Given the description of an element on the screen output the (x, y) to click on. 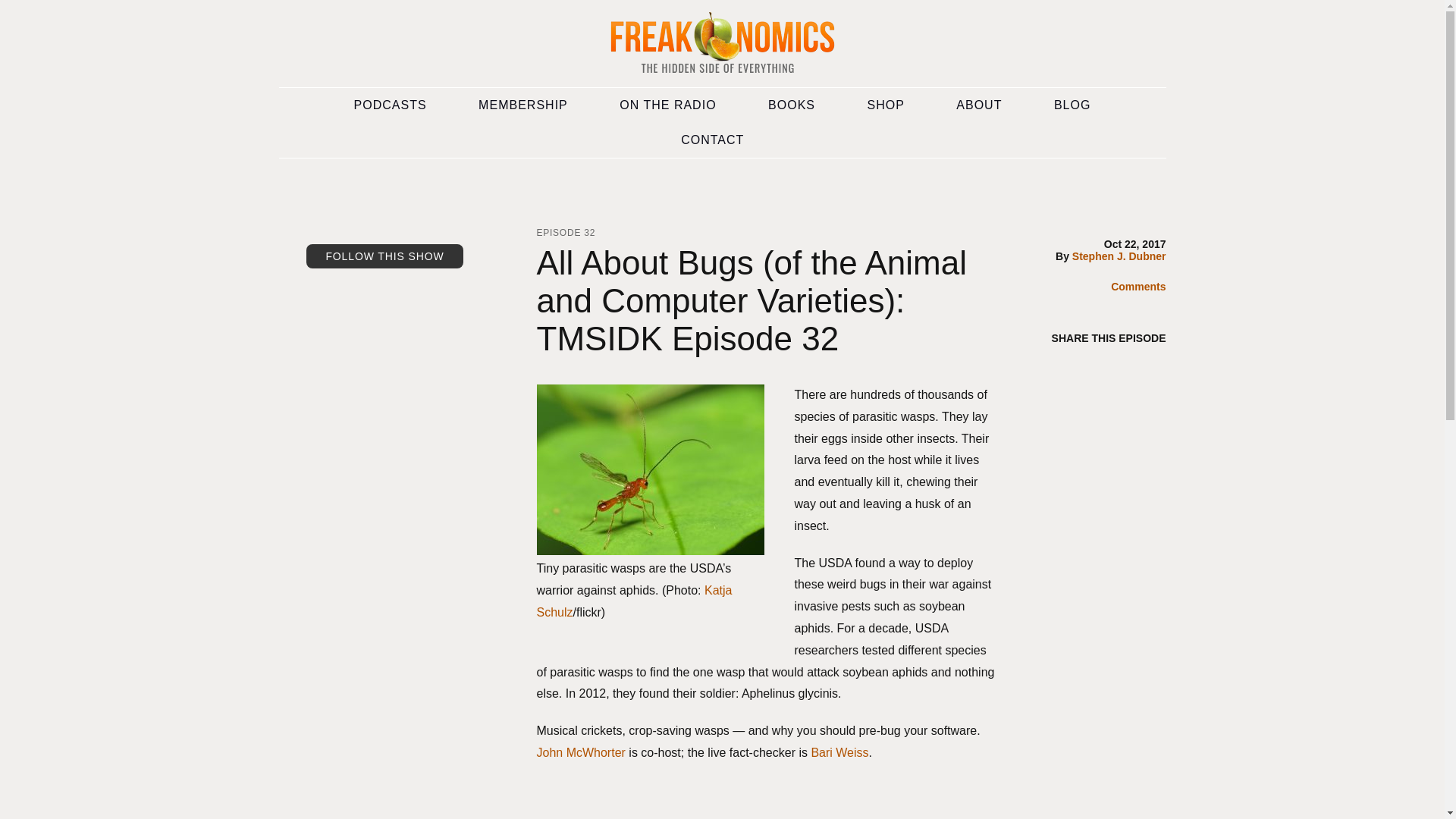
View full series (385, 392)
BOOKS (792, 104)
Tweet about this (1125, 366)
Share on Facebook (1095, 366)
ON THE RADIO (667, 104)
Return to homepage (722, 43)
Stephen J. Dubner (1118, 256)
Katja Schulz (634, 601)
SHOP (885, 104)
PODCASTS (390, 104)
BLOG (1072, 104)
ABOUT (978, 104)
MEMBERSHIP (523, 104)
John McWhorter (581, 752)
Comments (1126, 287)
